Given the description of an element on the screen output the (x, y) to click on. 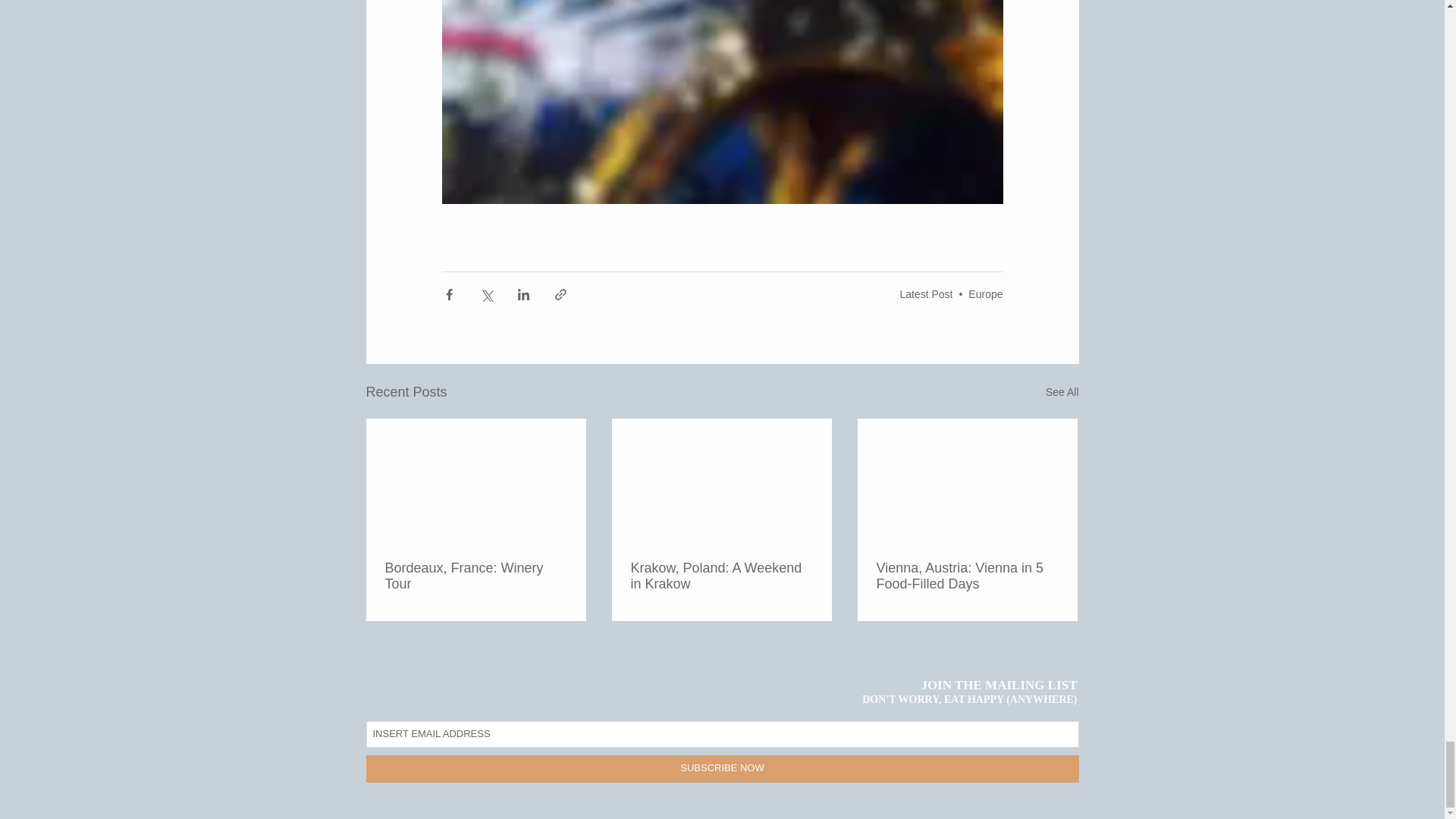
Krakow, Poland: A Weekend in Krakow (721, 576)
See All (1061, 392)
Latest Post (925, 294)
Vienna, Austria: Vienna in 5 Food-Filled Days (967, 576)
Bordeaux, France: Winery Tour (476, 576)
Europe (985, 294)
SUBSCRIBE NOW (721, 768)
